Given the description of an element on the screen output the (x, y) to click on. 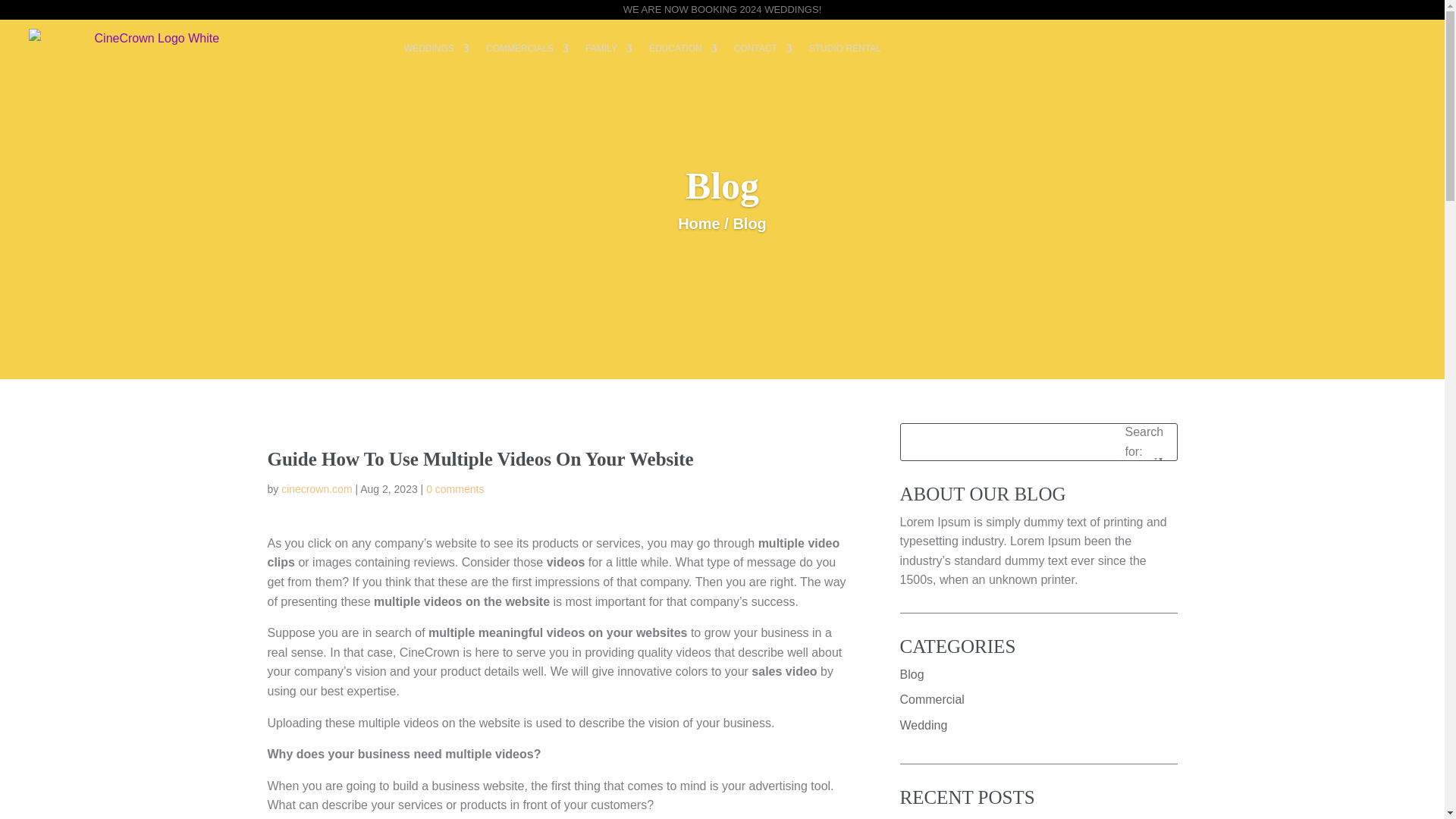
WEDDINGS (436, 47)
EDUCATION (683, 47)
COMMERCIALS (527, 47)
Posts by cinecrown.com (316, 489)
